Given the description of an element on the screen output the (x, y) to click on. 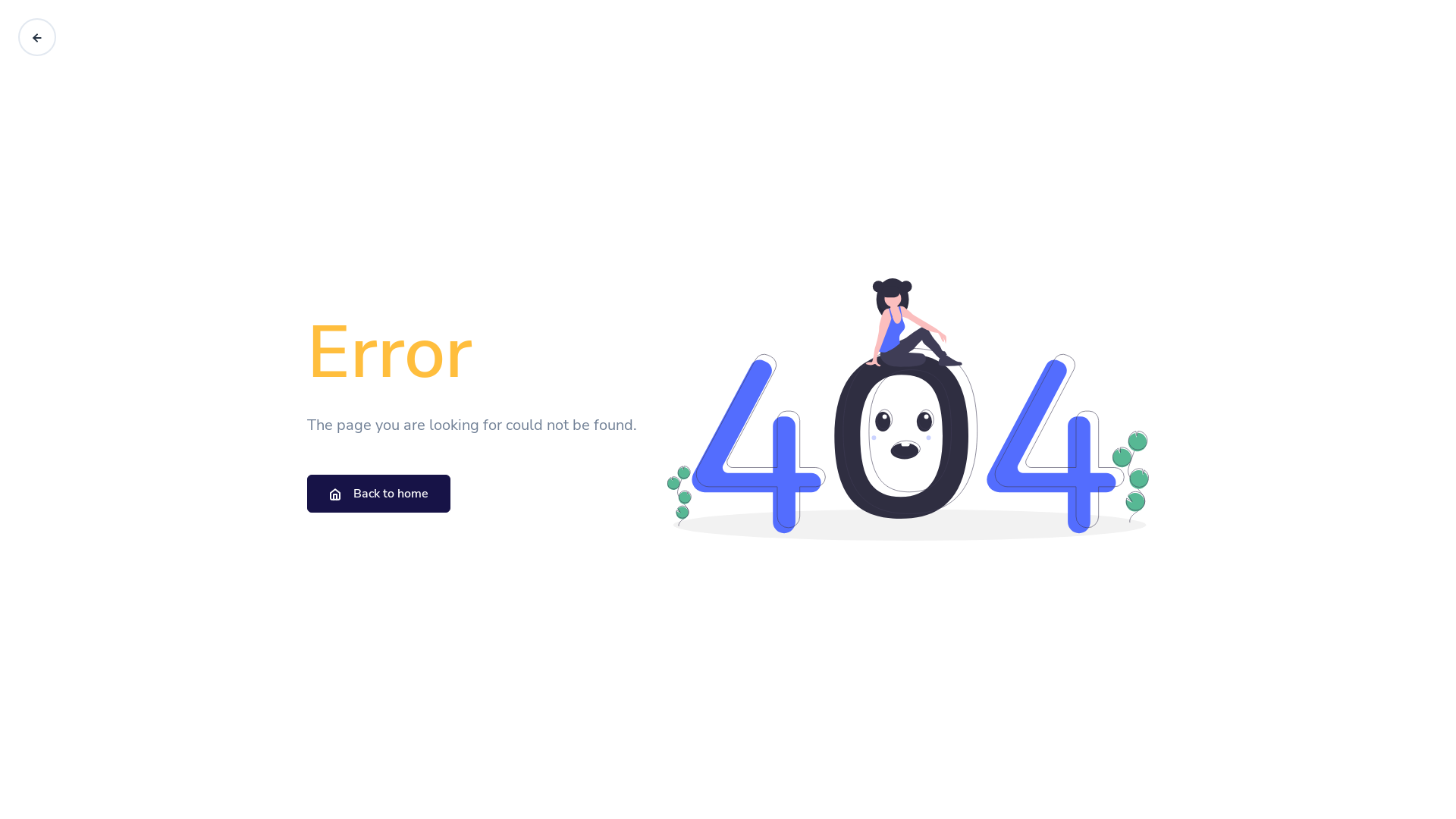
Go back Element type: hover (37, 37)
Back to home Element type: text (378, 493)
